Given the description of an element on the screen output the (x, y) to click on. 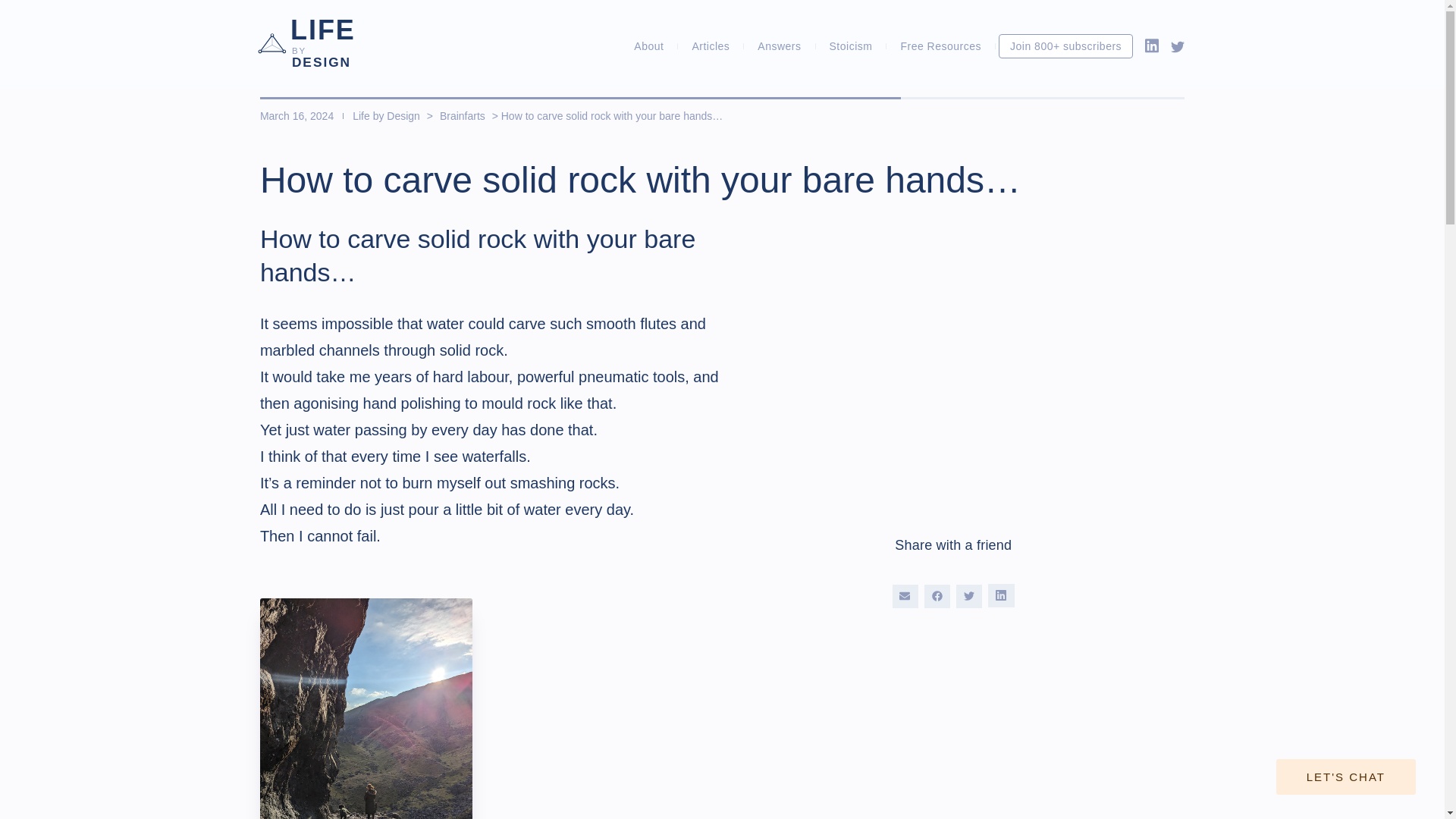
Brainfarts (462, 115)
Articles (710, 46)
Stoicism (850, 46)
Free Resources (940, 46)
LET'S CHAT (1345, 776)
Life by Design (387, 115)
About (322, 43)
Answers (648, 46)
